Given the description of an element on the screen output the (x, y) to click on. 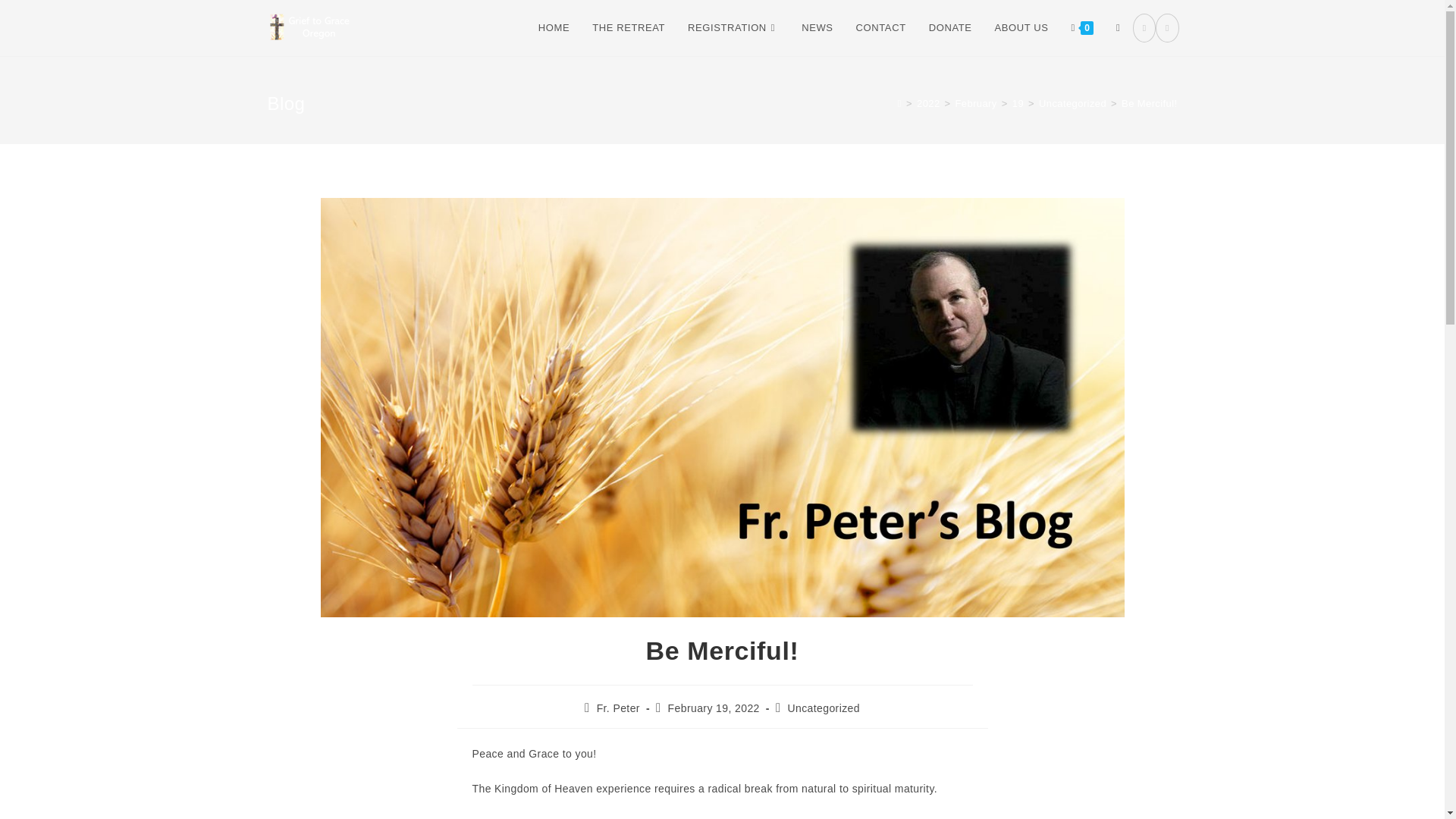
THE RETREAT (628, 28)
19 (1017, 102)
Posts by Fr. Peter (618, 707)
CONTACT (880, 28)
Uncategorized (1072, 102)
2022 (928, 102)
February (976, 102)
Be Merciful! (1148, 102)
ABOUT US (1020, 28)
Fr. Peter (618, 707)
HOME (553, 28)
NEWS (817, 28)
DONATE (950, 28)
REGISTRATION (733, 28)
